Given the description of an element on the screen output the (x, y) to click on. 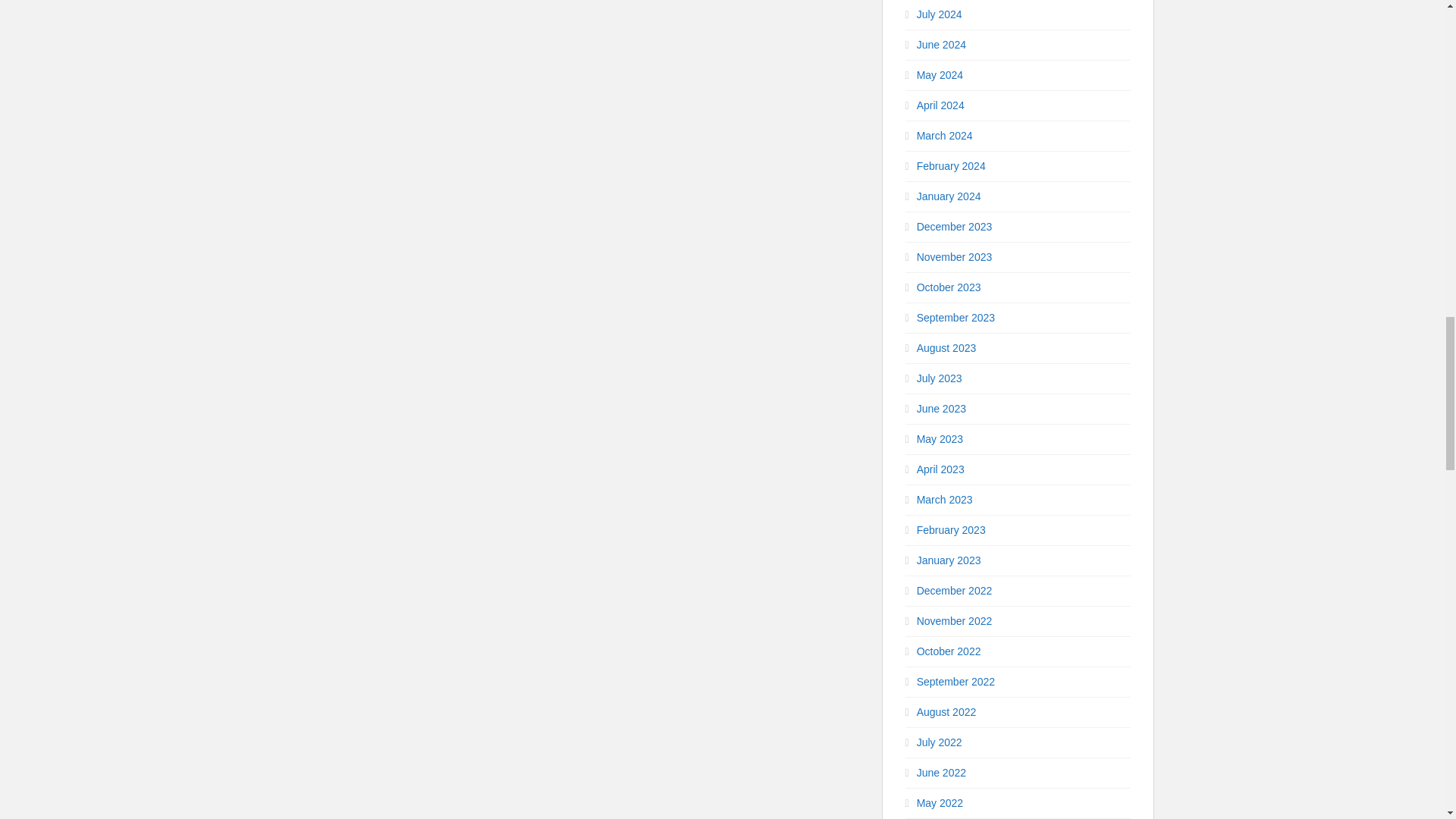
June 2024 (941, 44)
July 2024 (939, 14)
May 2024 (939, 74)
